Given the description of an element on the screen output the (x, y) to click on. 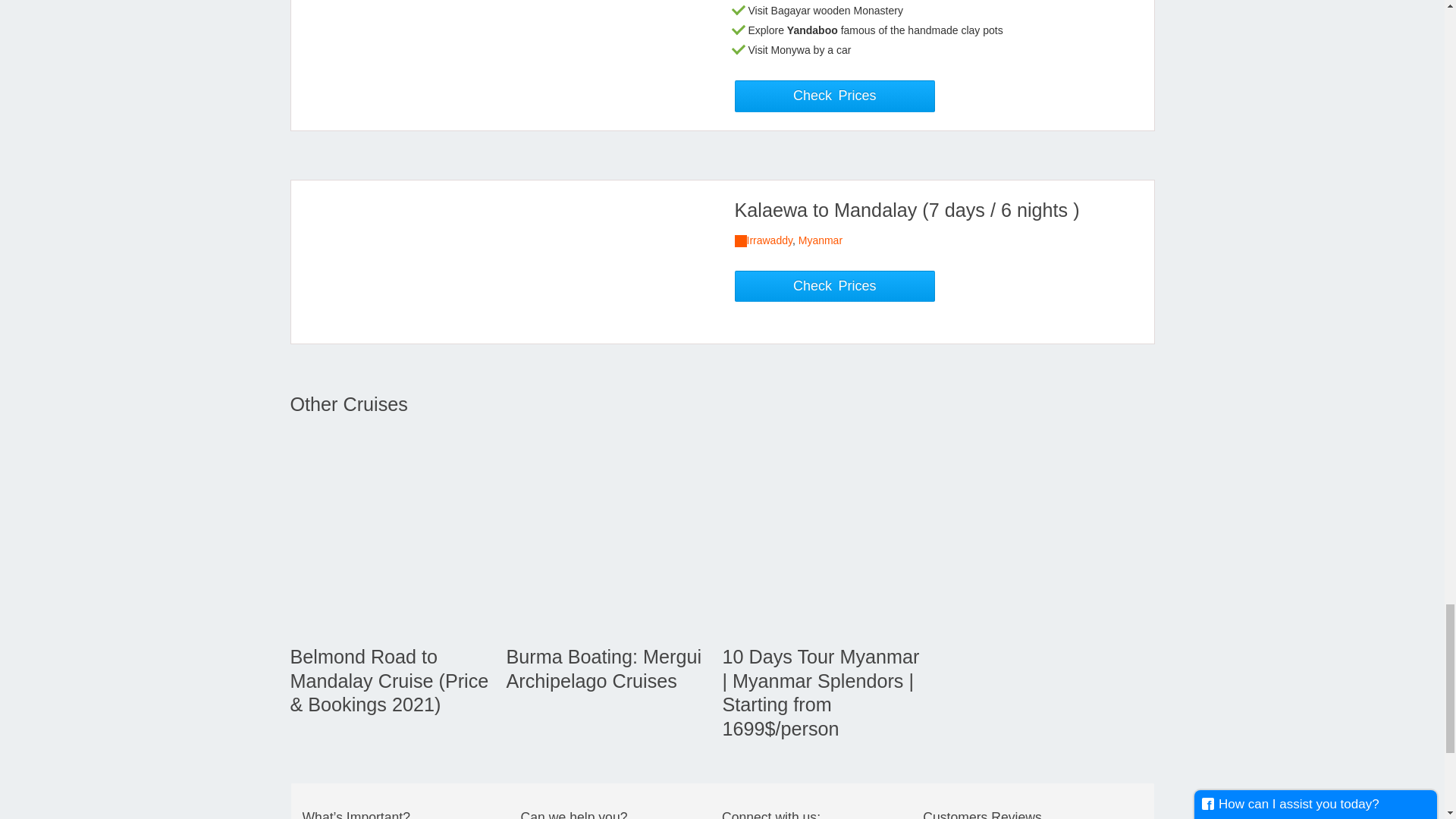
Check Prices (833, 286)
Burma Boating: Mergui Archipelago Cruises (603, 668)
Irrawaddy (768, 240)
Myanmar (820, 240)
Check Prices (833, 96)
